Given the description of an element on the screen output the (x, y) to click on. 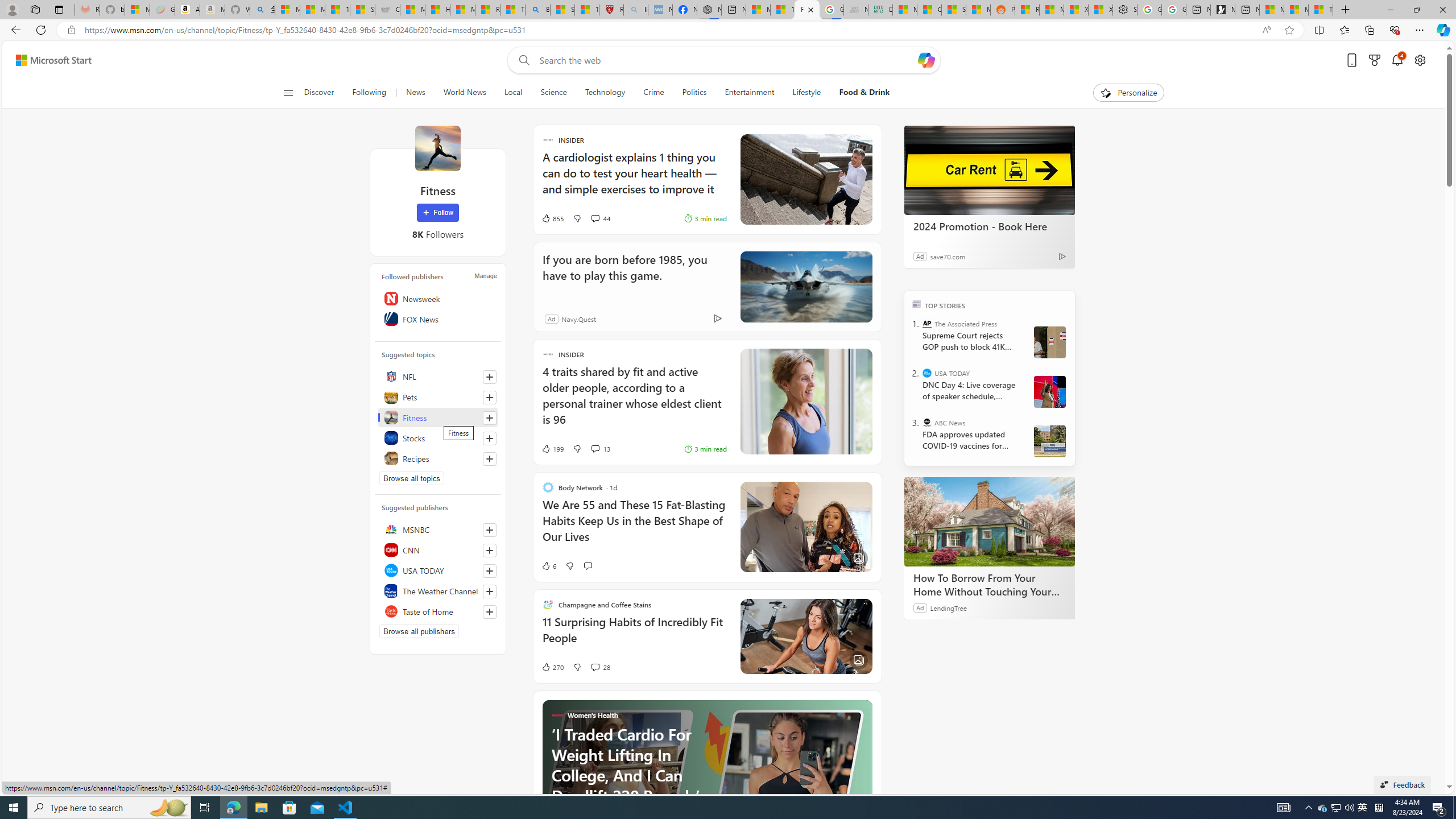
DITOGAMES AG Imprint (879, 9)
Lifestyle (806, 92)
Microsoft rewards (1374, 60)
How I Got Rid of Microsoft Edge's Unnecessary Features (437, 9)
Navy Quest (855, 9)
Class: button-glyph (287, 92)
Recipes (437, 458)
